Given the description of an element on the screen output the (x, y) to click on. 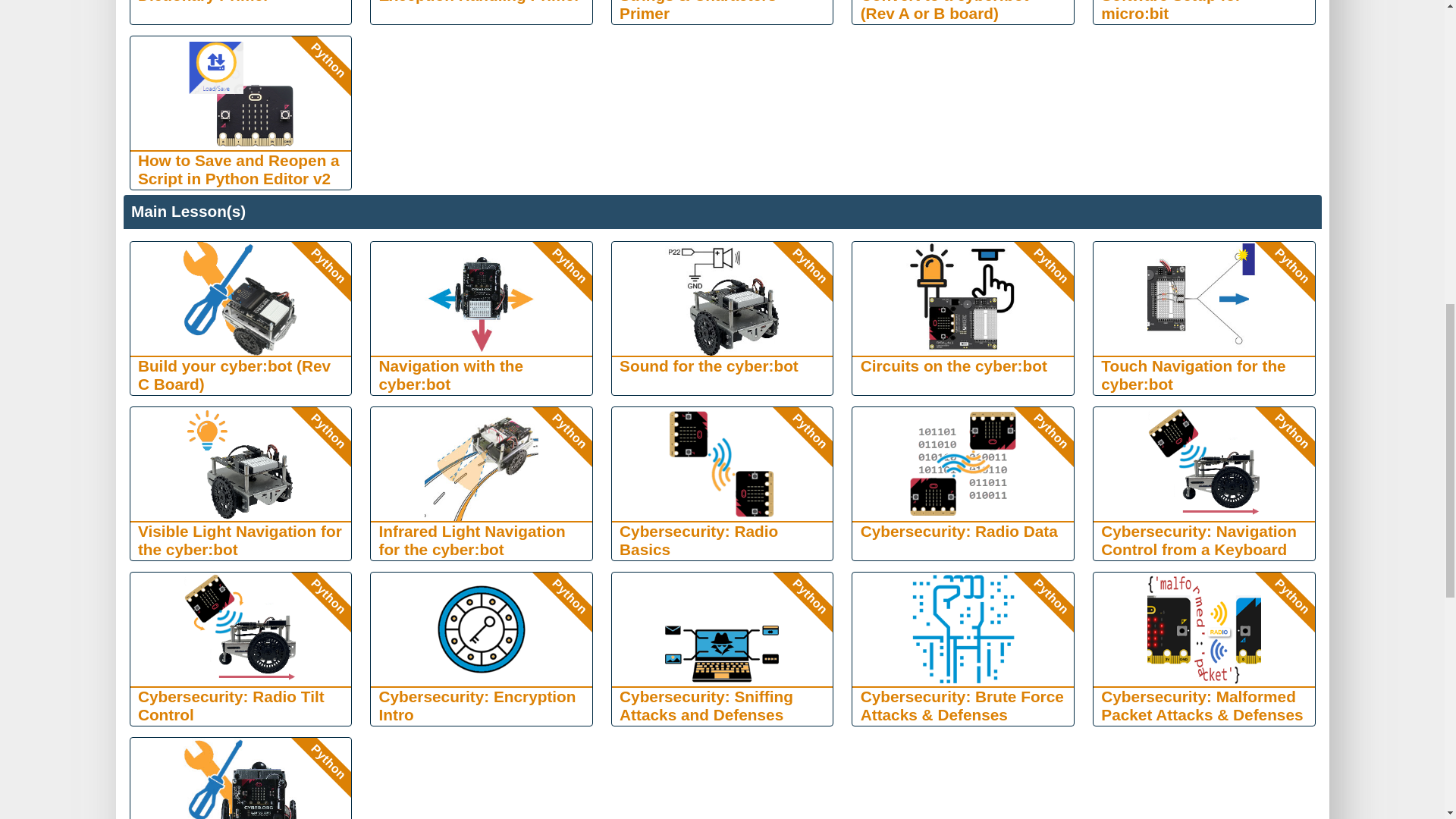
Visible Light Navigation for the cyber:bot (240, 463)
Circuits on the cyber:bot (962, 298)
Infrared Light Navigation for the cyber:bot (481, 463)
Sound for the cyber:bot (721, 298)
Touch Navigation for the cyber:bot (1203, 298)
Build your cyber:bot - Rev C board (240, 298)
Navigation with the cyber:bot (481, 298)
How to Save and Reopen a Script in Python Editor v2 (240, 92)
